Given the description of an element on the screen output the (x, y) to click on. 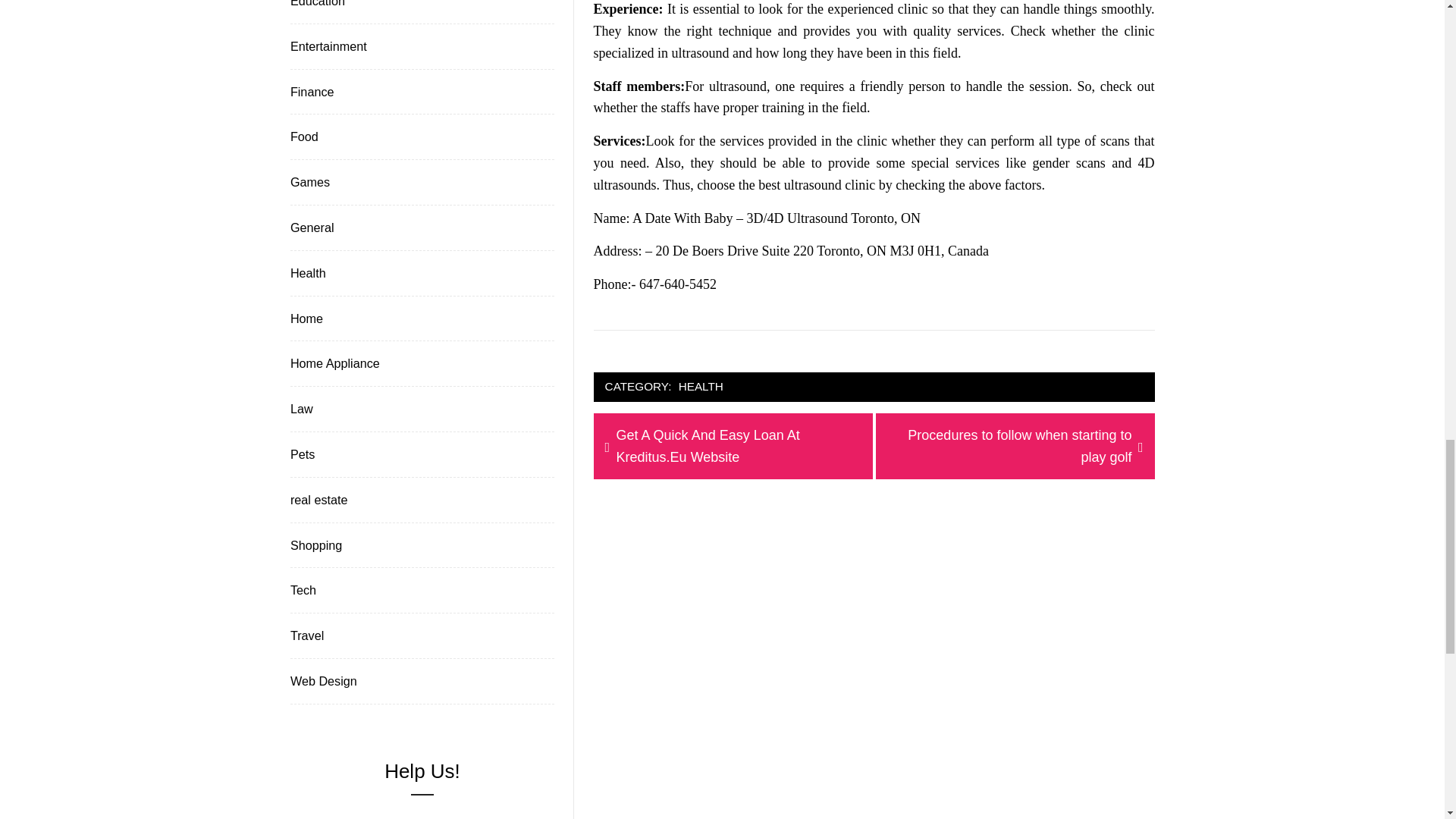
Food (302, 137)
HEALTH (700, 386)
Education (1014, 446)
Entertainment (315, 6)
Finance (326, 46)
